Given the description of an element on the screen output the (x, y) to click on. 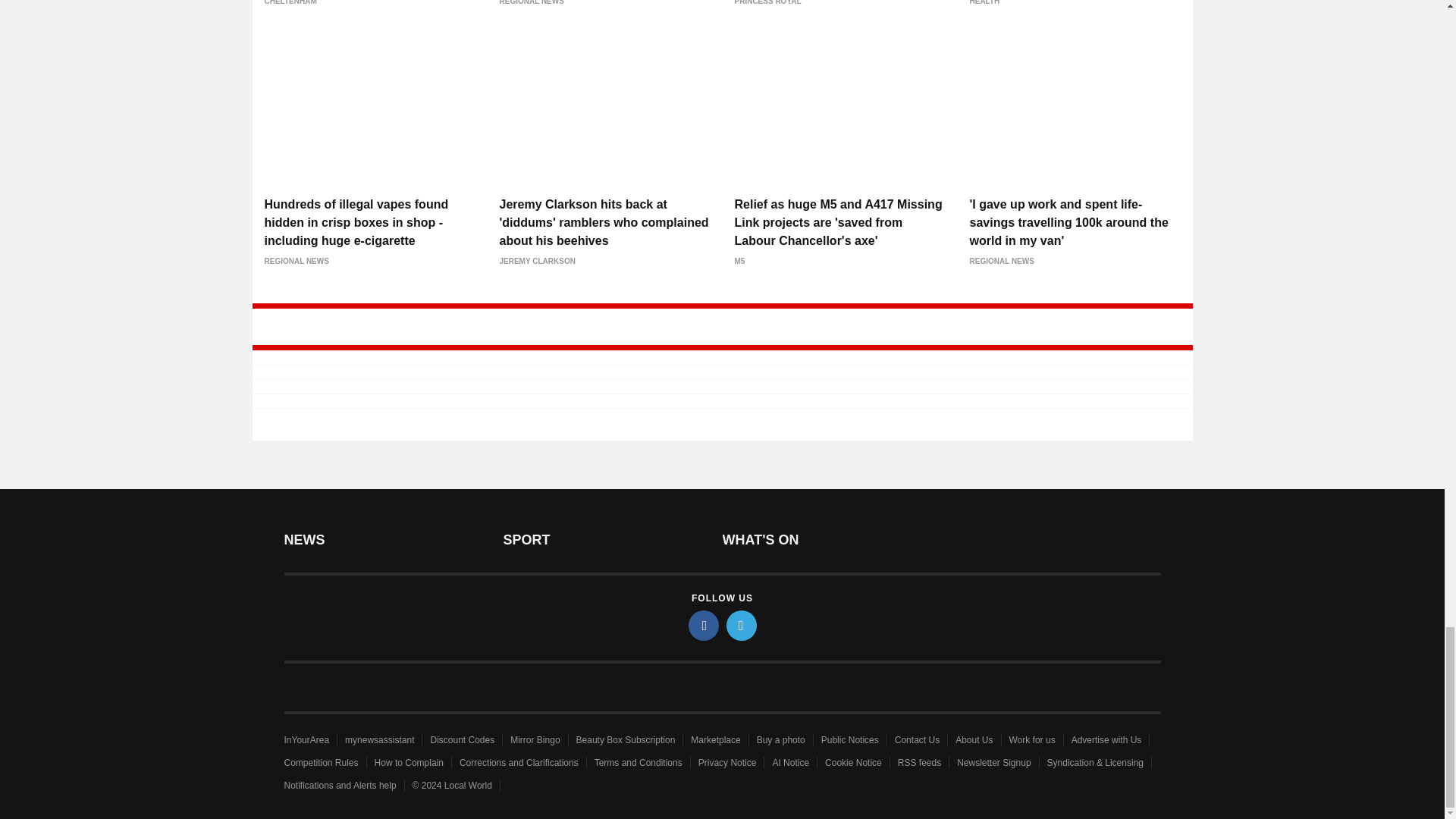
facebook (703, 625)
twitter (741, 625)
